Given the description of an element on the screen output the (x, y) to click on. 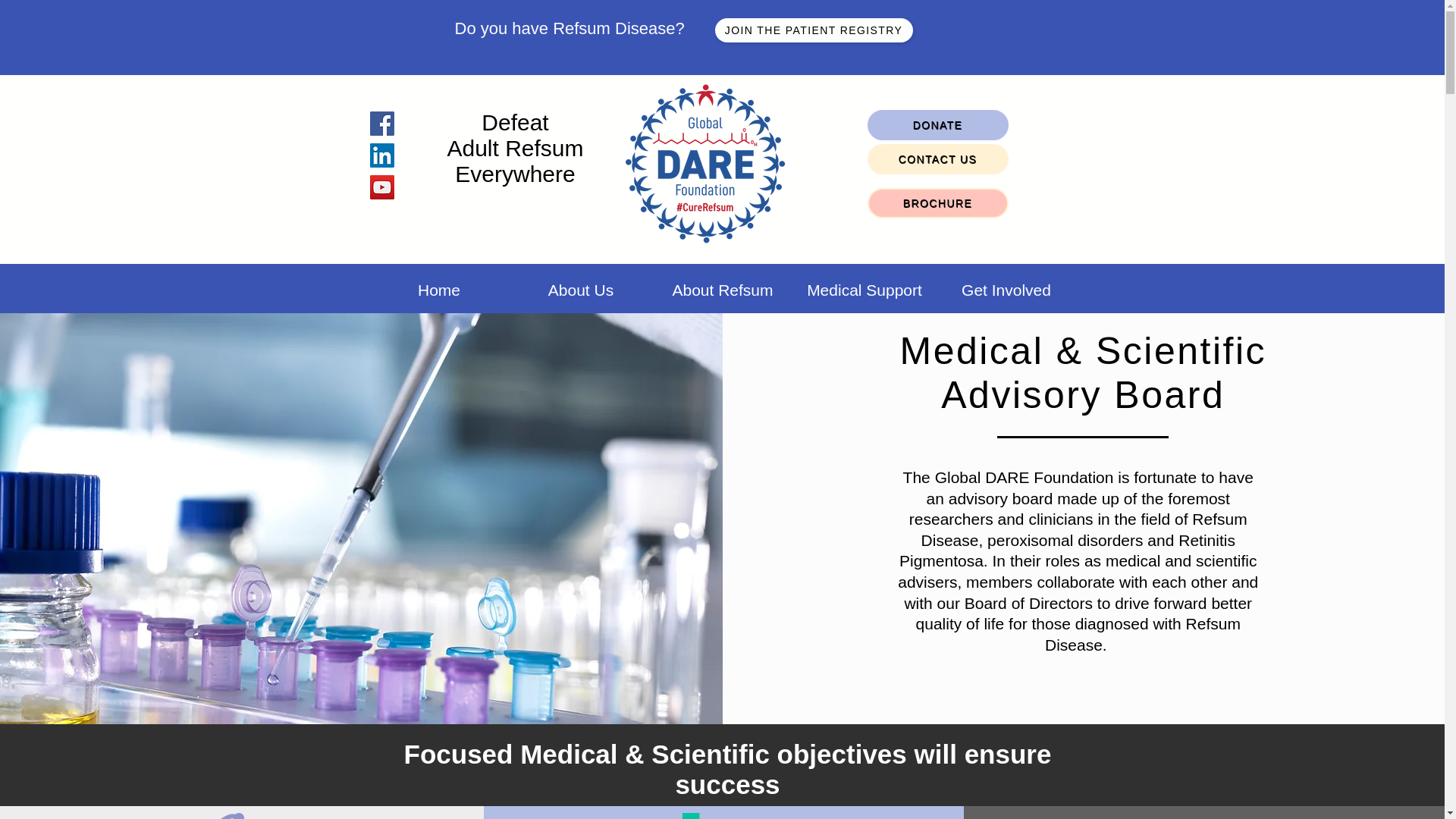
Home (438, 289)
JOIN THE PATIENT REGISTRY (813, 30)
DONATE (938, 124)
CONTACT US (938, 159)
BROCHURE (938, 203)
